Given the description of an element on the screen output the (x, y) to click on. 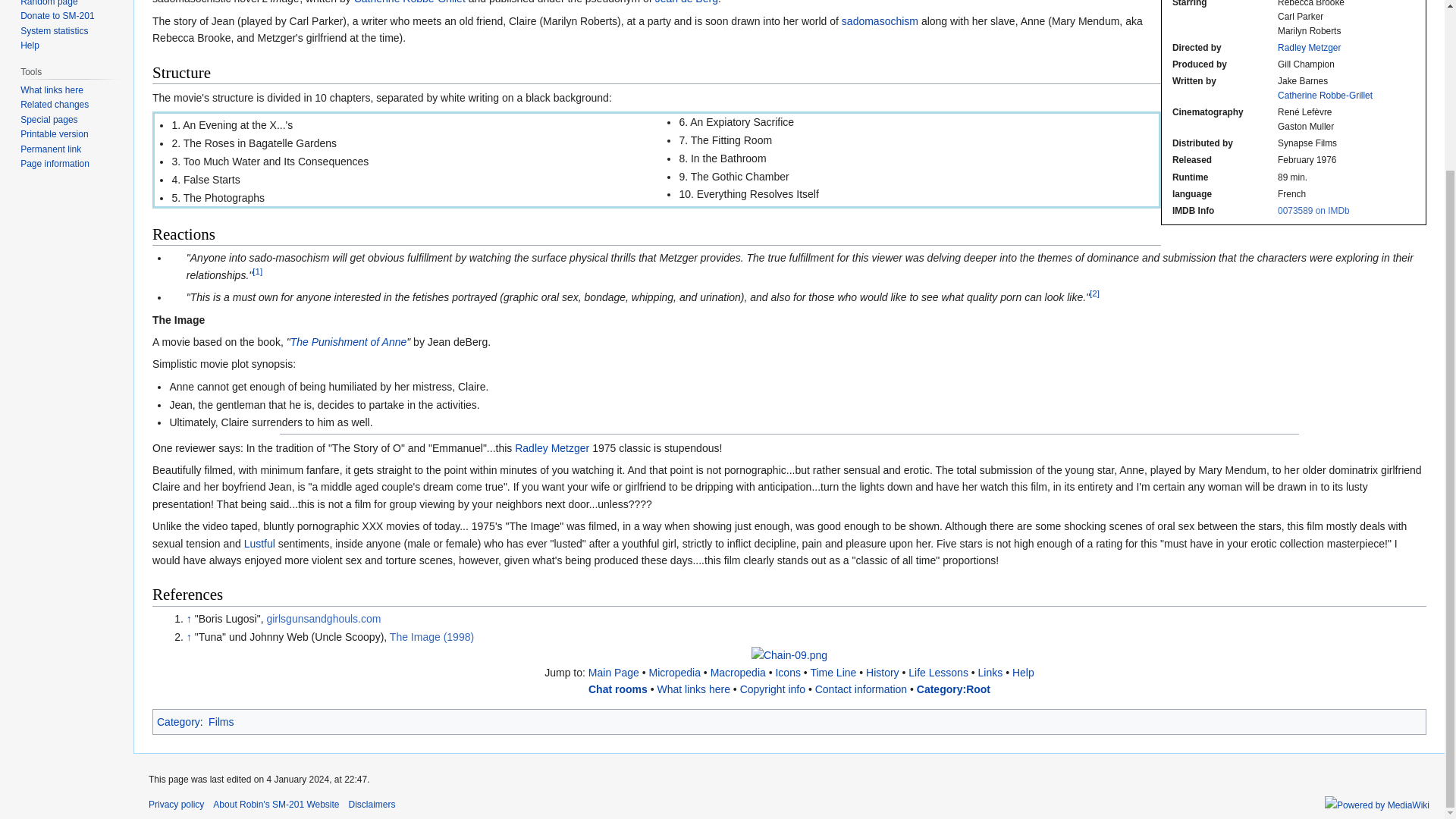
Radley Metzger (1309, 47)
girlsgunsandghouls.com (328, 618)
Help (1022, 672)
Time Line (832, 672)
Icons (786, 672)
Catherine Robbe-Grillet (409, 2)
Copyright info (772, 689)
The Punishment of Anne (348, 341)
Radley Metzger (552, 448)
Icons (786, 672)
Chat rooms (617, 689)
Life Lessons (938, 672)
Radley Metzger (552, 448)
sadomasochism (879, 21)
Category (178, 721)
